Given the description of an element on the screen output the (x, y) to click on. 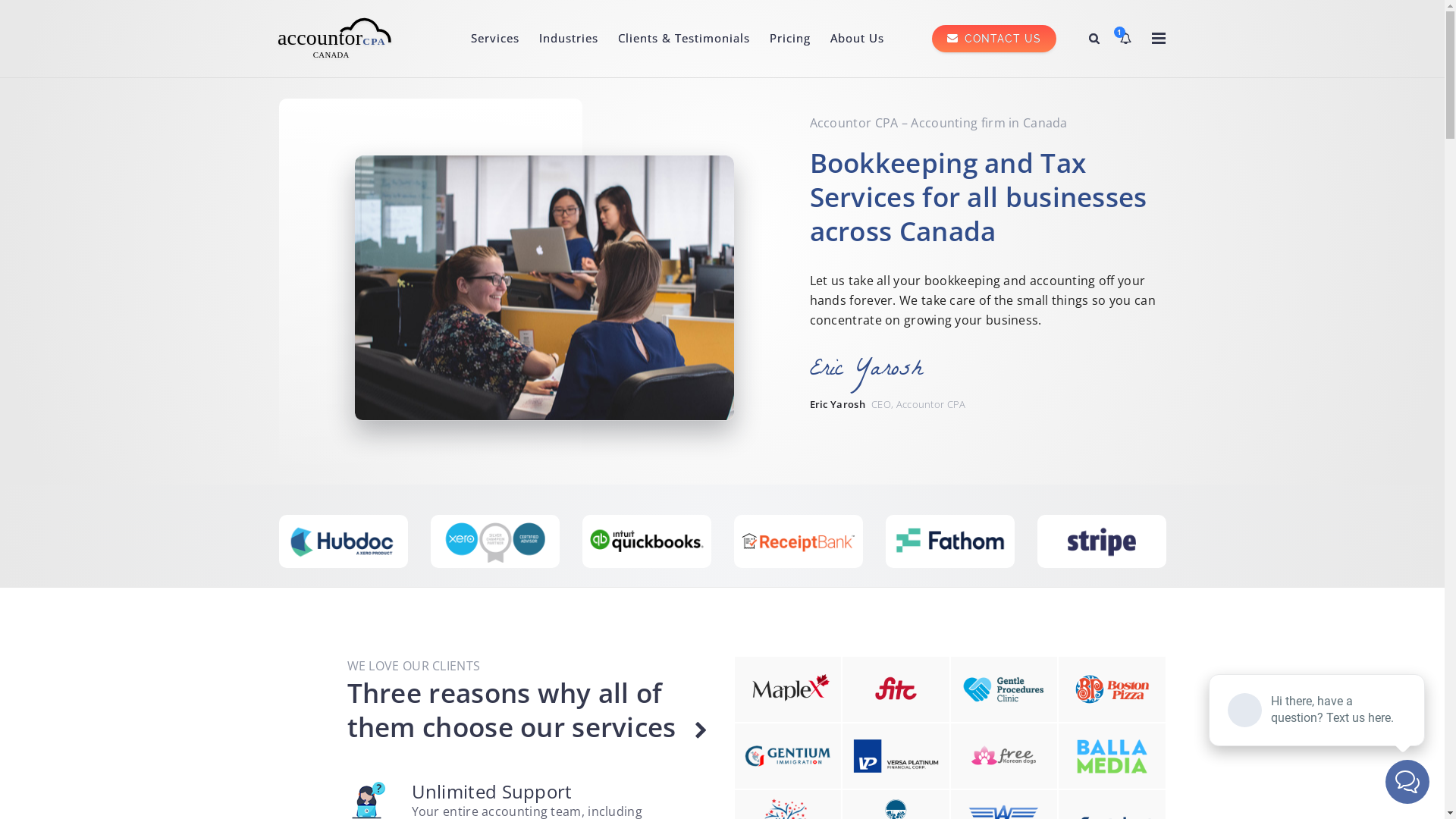
Pricing Element type: text (789, 37)
Quickbooks Element type: hover (798, 542)
Boston Pizza Element type: hover (1111, 689)
Korean dogs Element type: hover (1003, 755)
MapleX Element type: hover (787, 689)
Receipt Bank Element type: hover (950, 542)
Fathom Element type: hover (1101, 542)
Industries Element type: text (568, 37)
HubDoc Element type: hover (495, 542)
Services Element type: text (495, 37)
XERO Element type: hover (646, 542)
Stripe Element type: hover (343, 542)
Info Place Canada Element type: hover (895, 756)
Eric Yarosh Element type: text (879, 371)
accountorCPA
CANADA Element type: text (336, 44)
Clients & Testimonials Element type: text (683, 37)
About Us Element type: text (857, 37)
FITC Element type: hover (895, 689)
CONTACT US Element type: text (974, 37)
Balla Media Element type: hover (1111, 756)
groompets Element type: hover (787, 756)
Gentle Procedures Clinic Element type: hover (1003, 689)
